Given the description of an element on the screen output the (x, y) to click on. 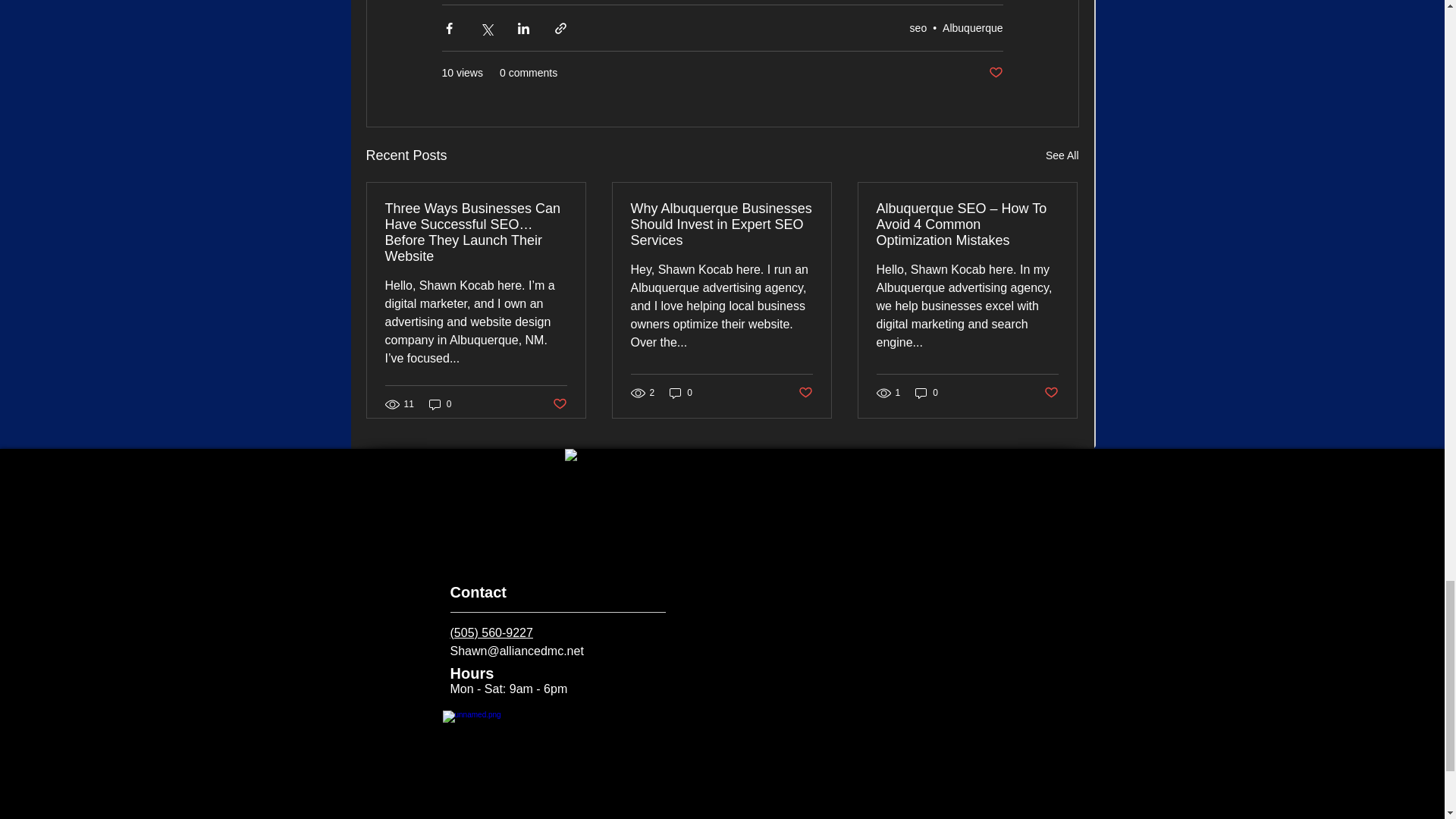
Albuquerque (972, 27)
0 (440, 404)
Post not marked as liked (1050, 392)
Post not marked as liked (995, 73)
See All (1061, 155)
Post not marked as liked (558, 403)
Post not marked as liked (804, 392)
seo (918, 27)
0 (681, 391)
